Given the description of an element on the screen output the (x, y) to click on. 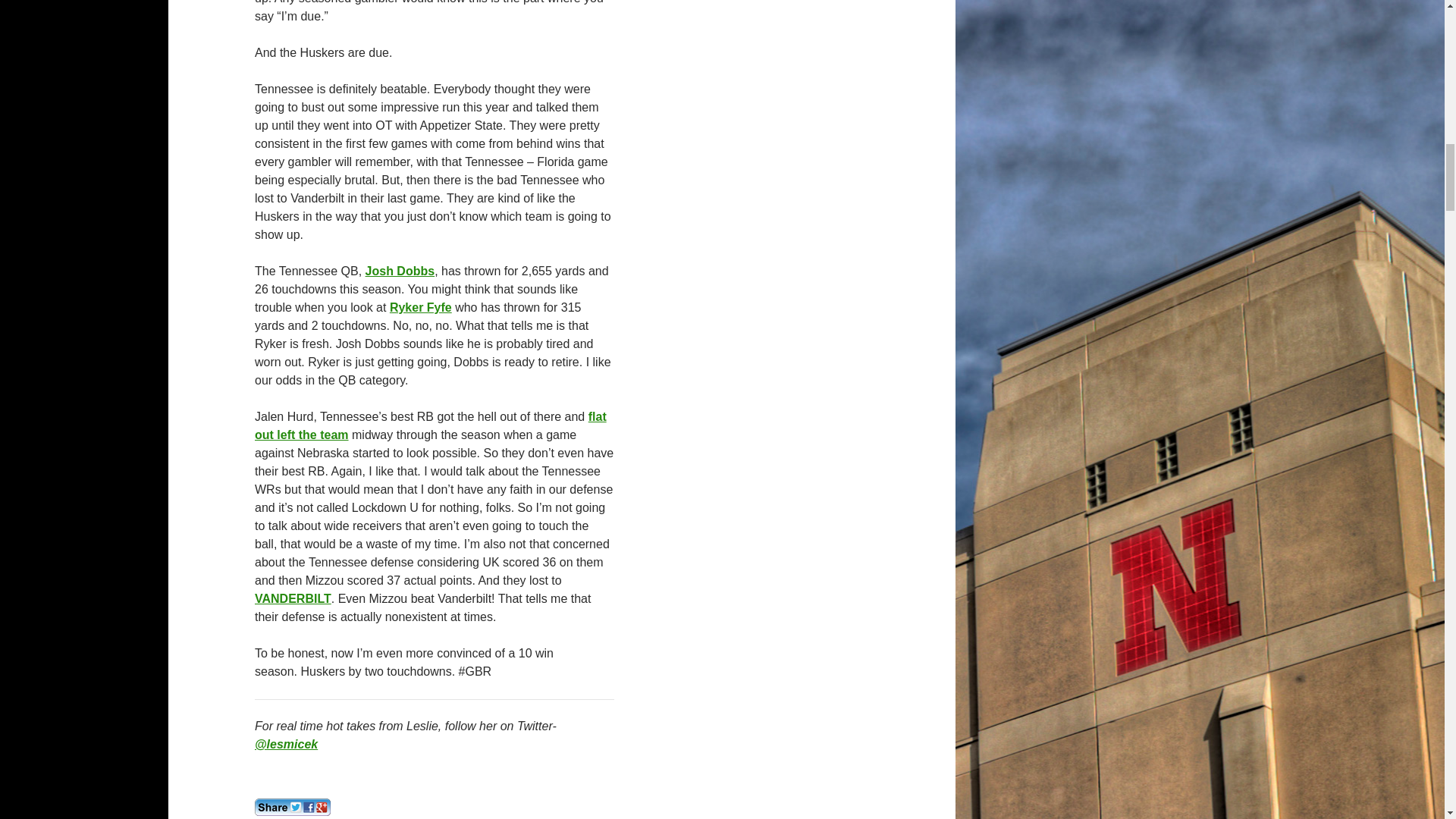
VANDERBILT (292, 598)
Ryker Fyfe (420, 307)
flat out left the team (430, 425)
Josh Dobbs (400, 270)
